Given the description of an element on the screen output the (x, y) to click on. 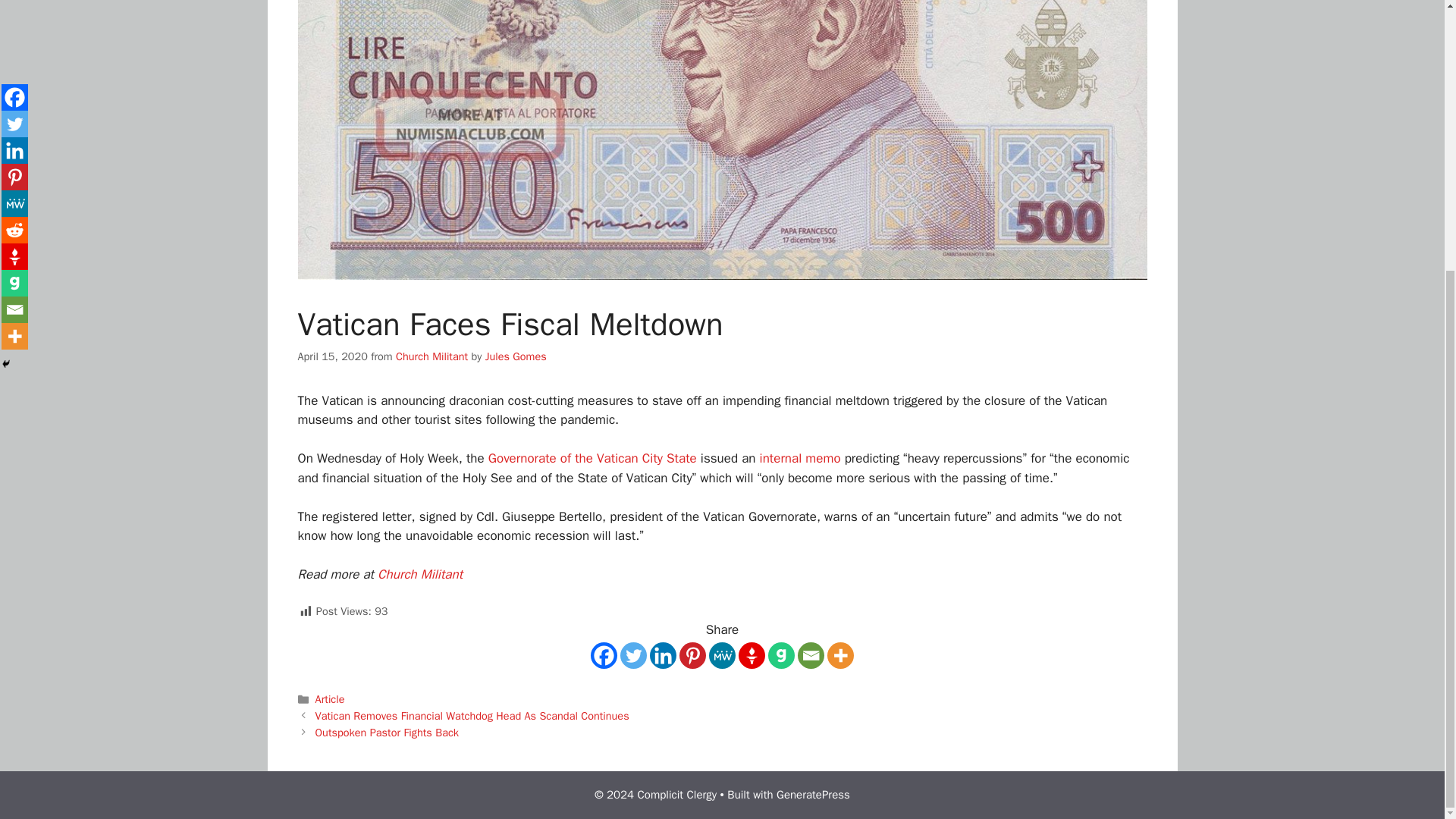
Church Militant (420, 574)
Linkedin (663, 655)
MeWe (722, 655)
Gettr (751, 655)
Facebook (604, 655)
internal memo (800, 458)
Twitter (633, 655)
Pinterest (692, 655)
Email (810, 655)
Church Militant (431, 356)
More (840, 655)
Gab (781, 655)
Governorate of the Vatican City State (592, 458)
Jules Gomes (515, 356)
